Given the description of an element on the screen output the (x, y) to click on. 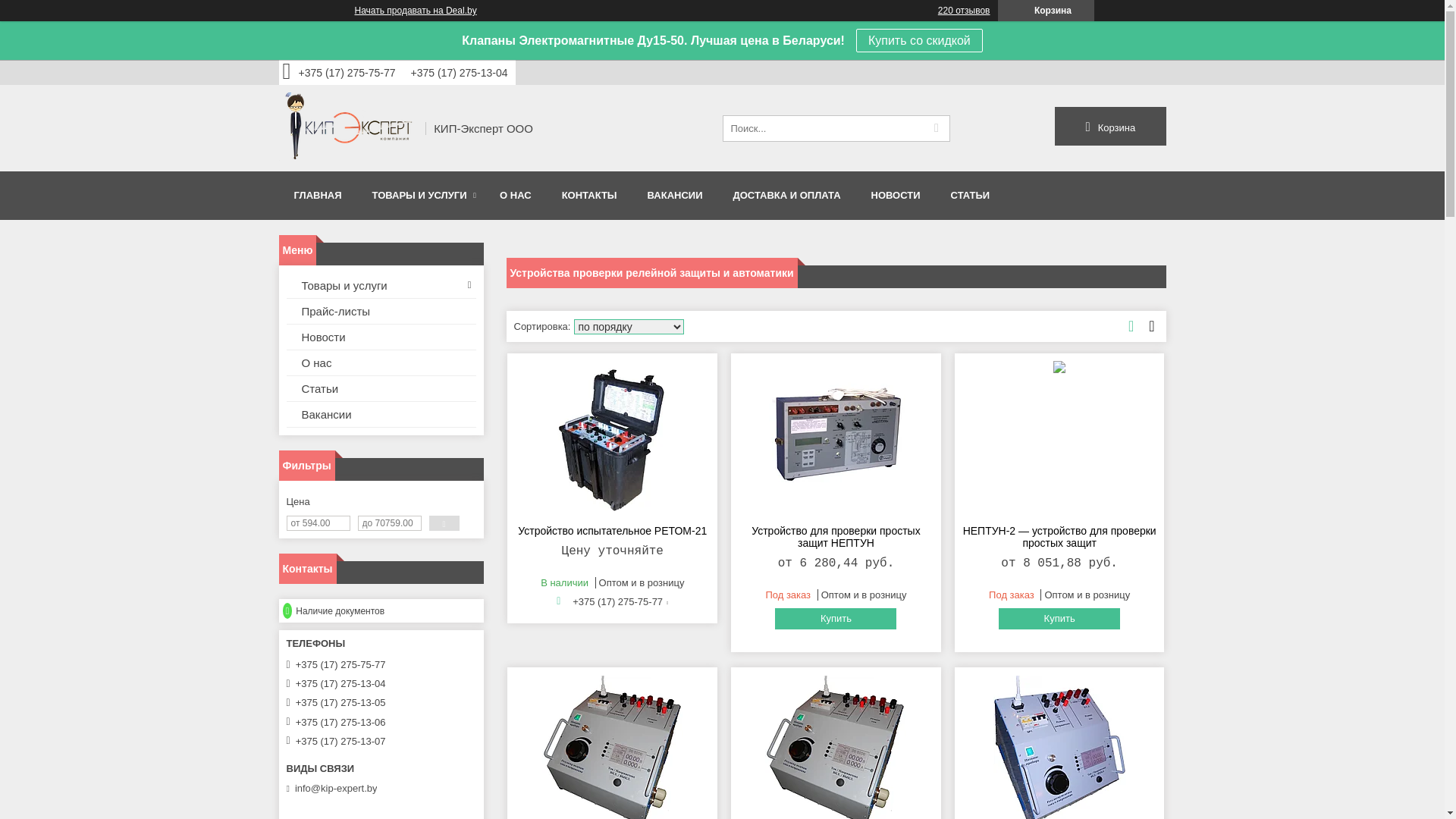
info@kip-expert.by Element type: text (335, 788)
